Given the description of an element on the screen output the (x, y) to click on. 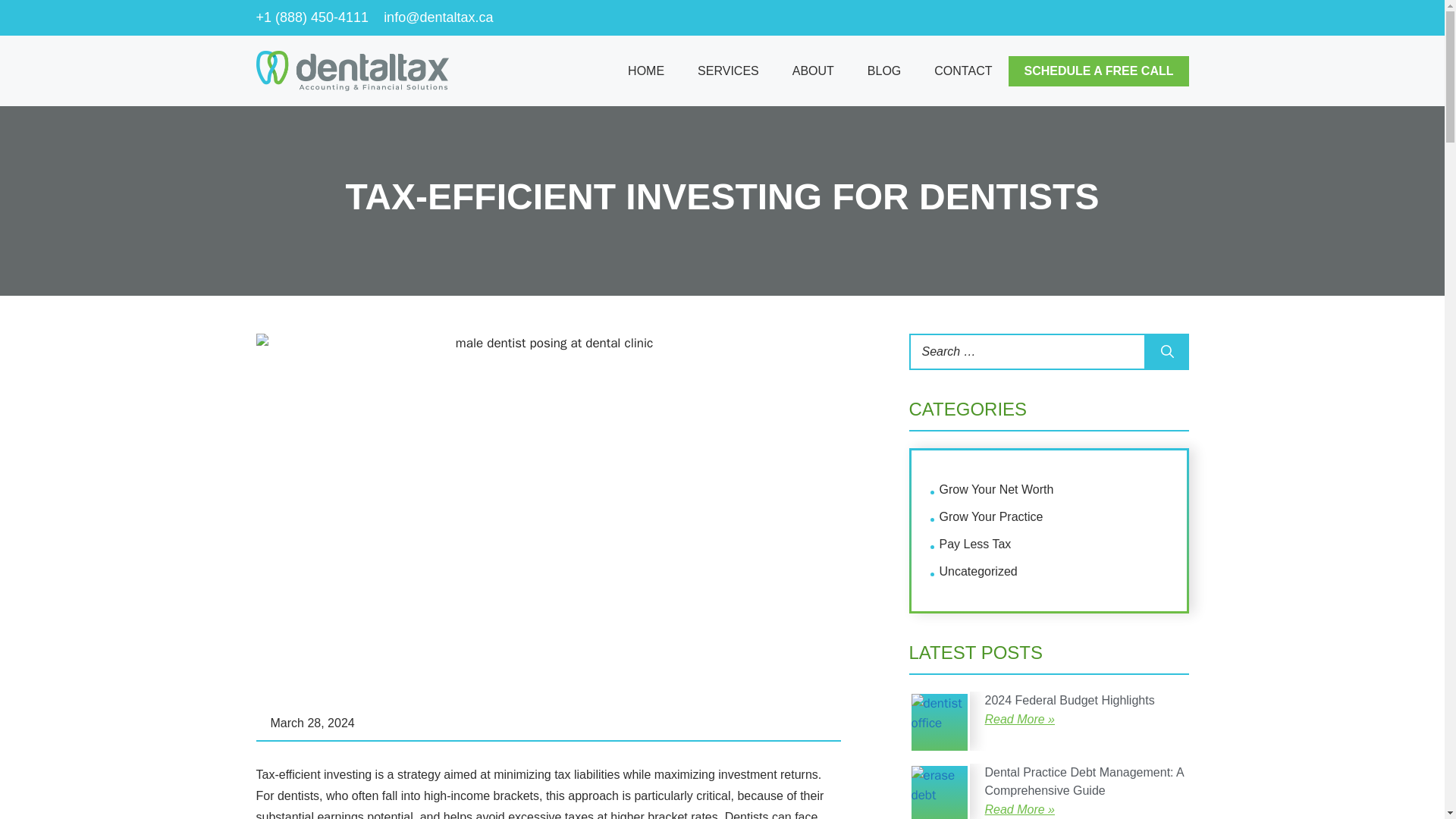
HOME (646, 70)
SERVICES (728, 70)
Search for: (1026, 351)
BLOG (883, 70)
ABOUT (813, 70)
